Given the description of an element on the screen output the (x, y) to click on. 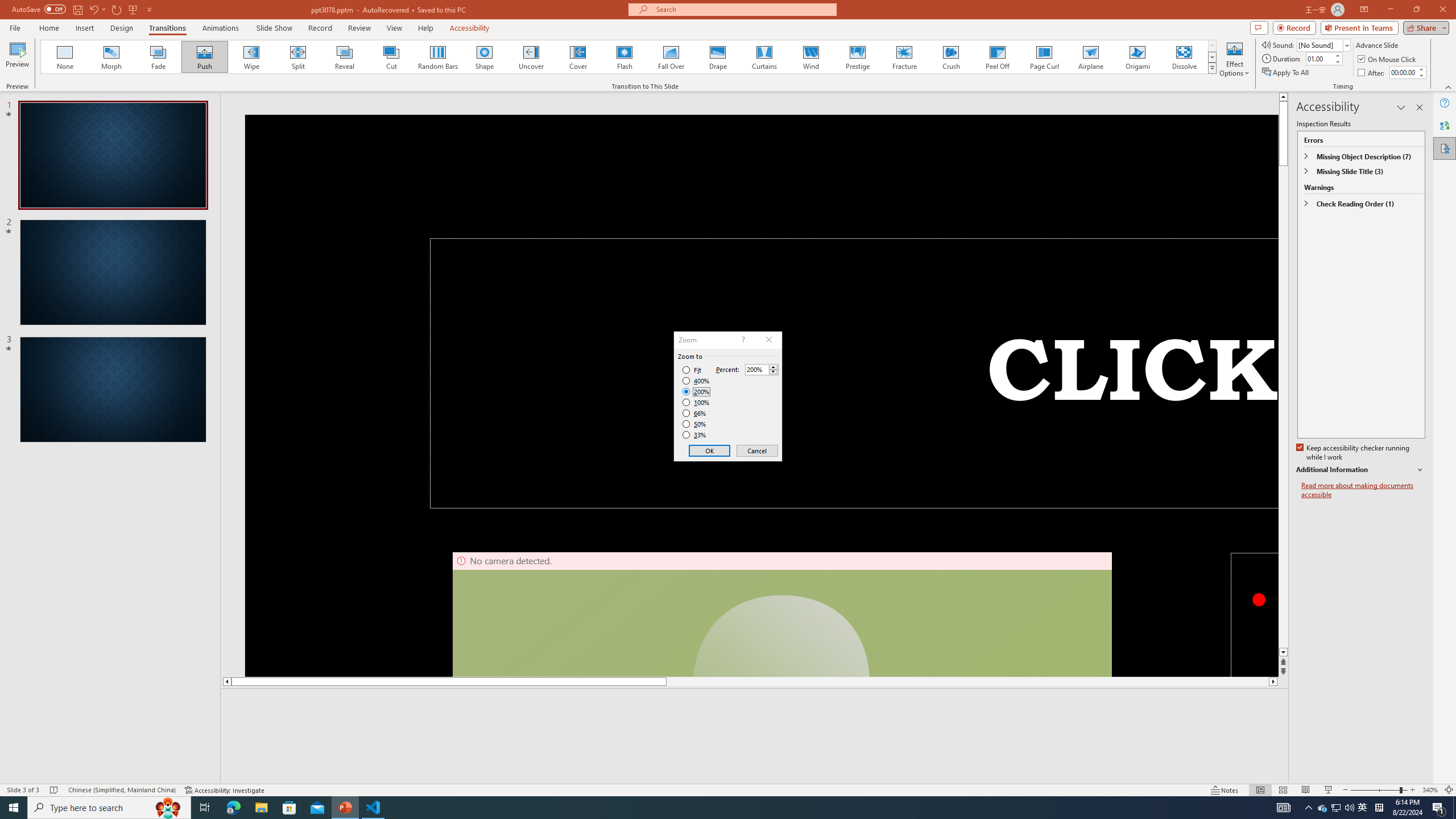
33% (694, 434)
Uncover (531, 56)
100% (696, 402)
50% (694, 424)
Wipe (251, 56)
Airplane (1090, 56)
Transition Effects (1212, 67)
